Given the description of an element on the screen output the (x, y) to click on. 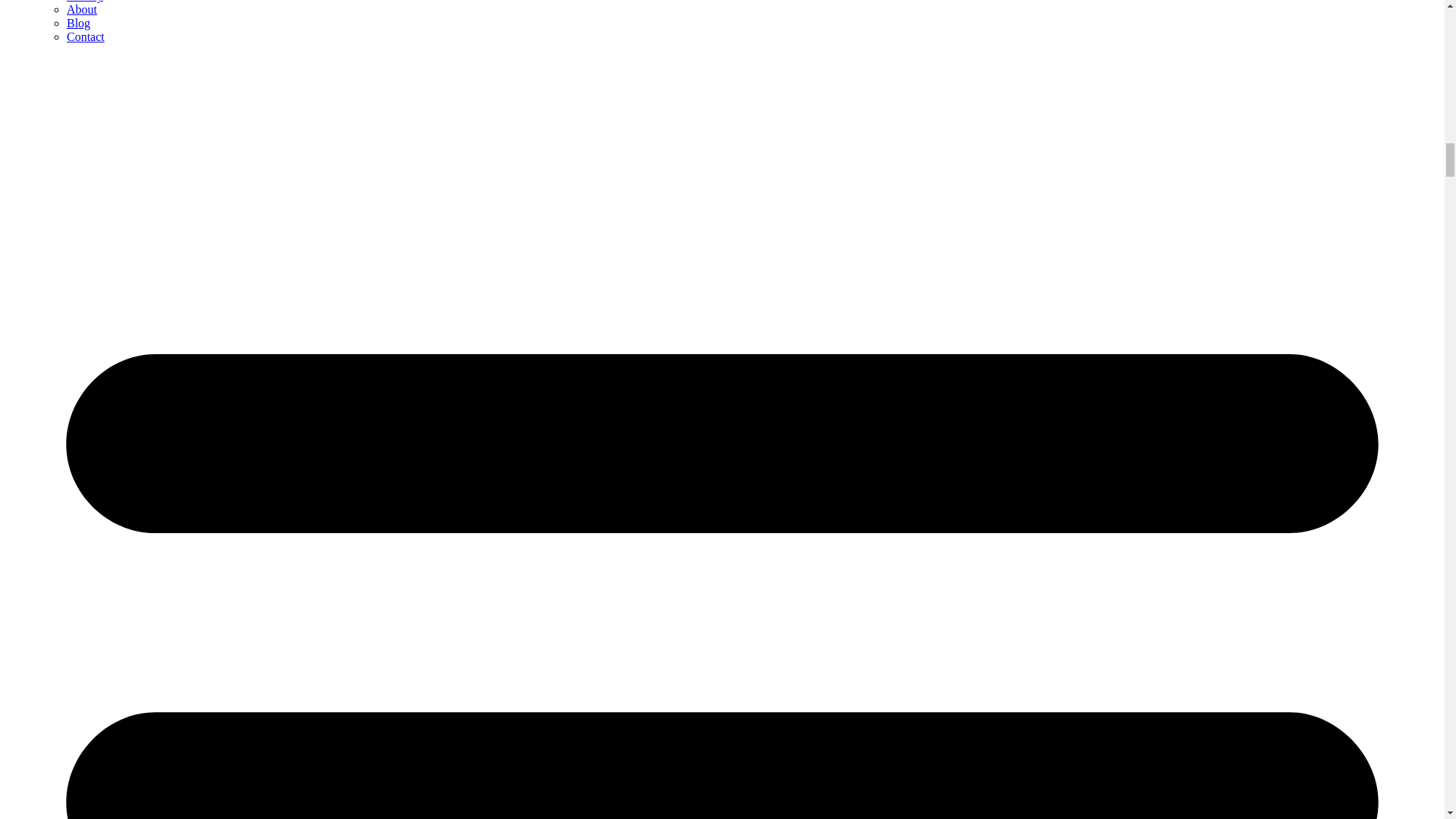
Gallery (84, 1)
About (81, 9)
Contact (85, 36)
Blog (78, 22)
